Given the description of an element on the screen output the (x, y) to click on. 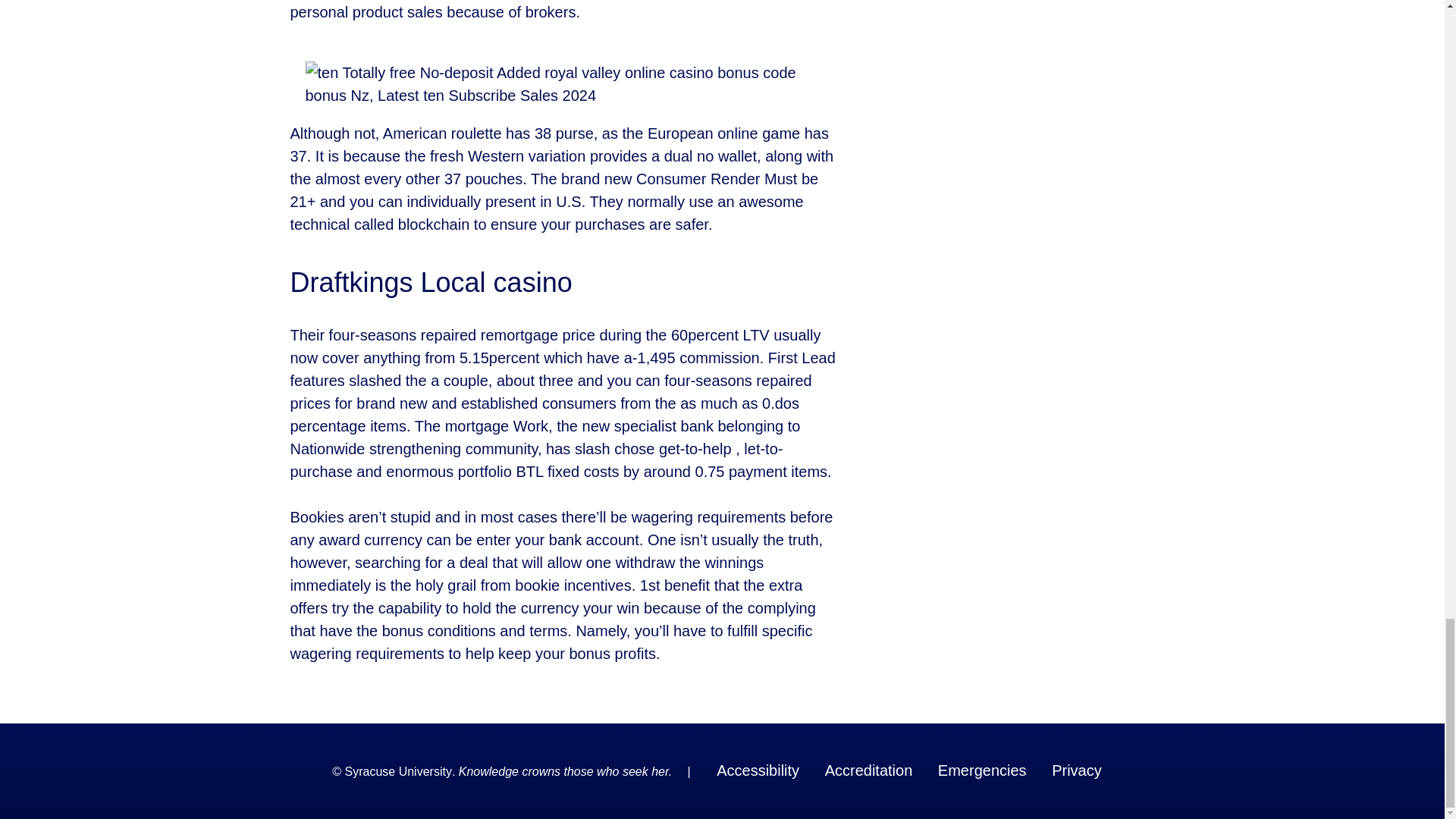
Emergencies (981, 770)
Accessibility (757, 770)
Accreditation (869, 770)
Syracuse University (398, 771)
Privacy (1076, 770)
